Given the description of an element on the screen output the (x, y) to click on. 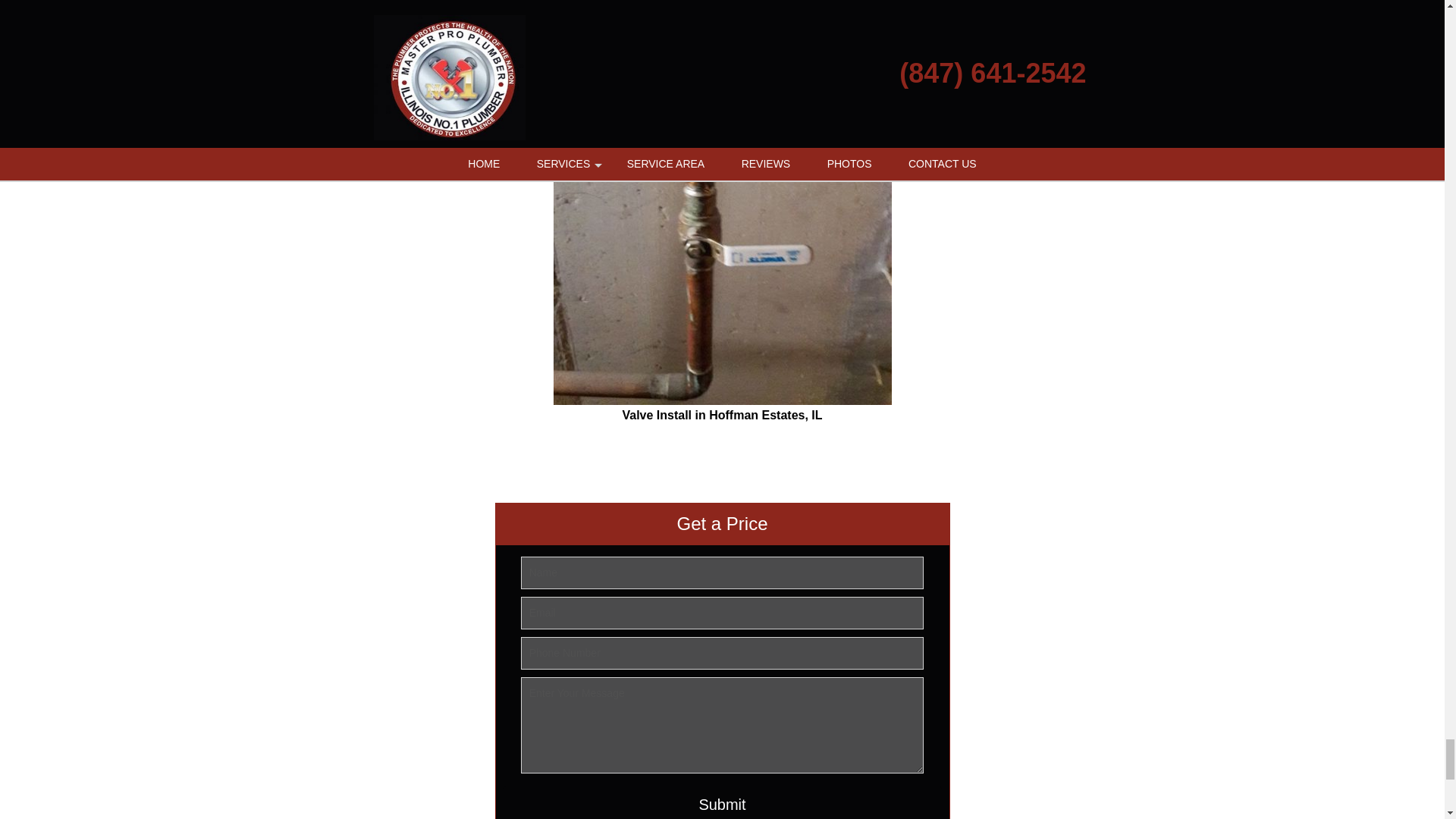
Submit (722, 802)
